Given the description of an element on the screen output the (x, y) to click on. 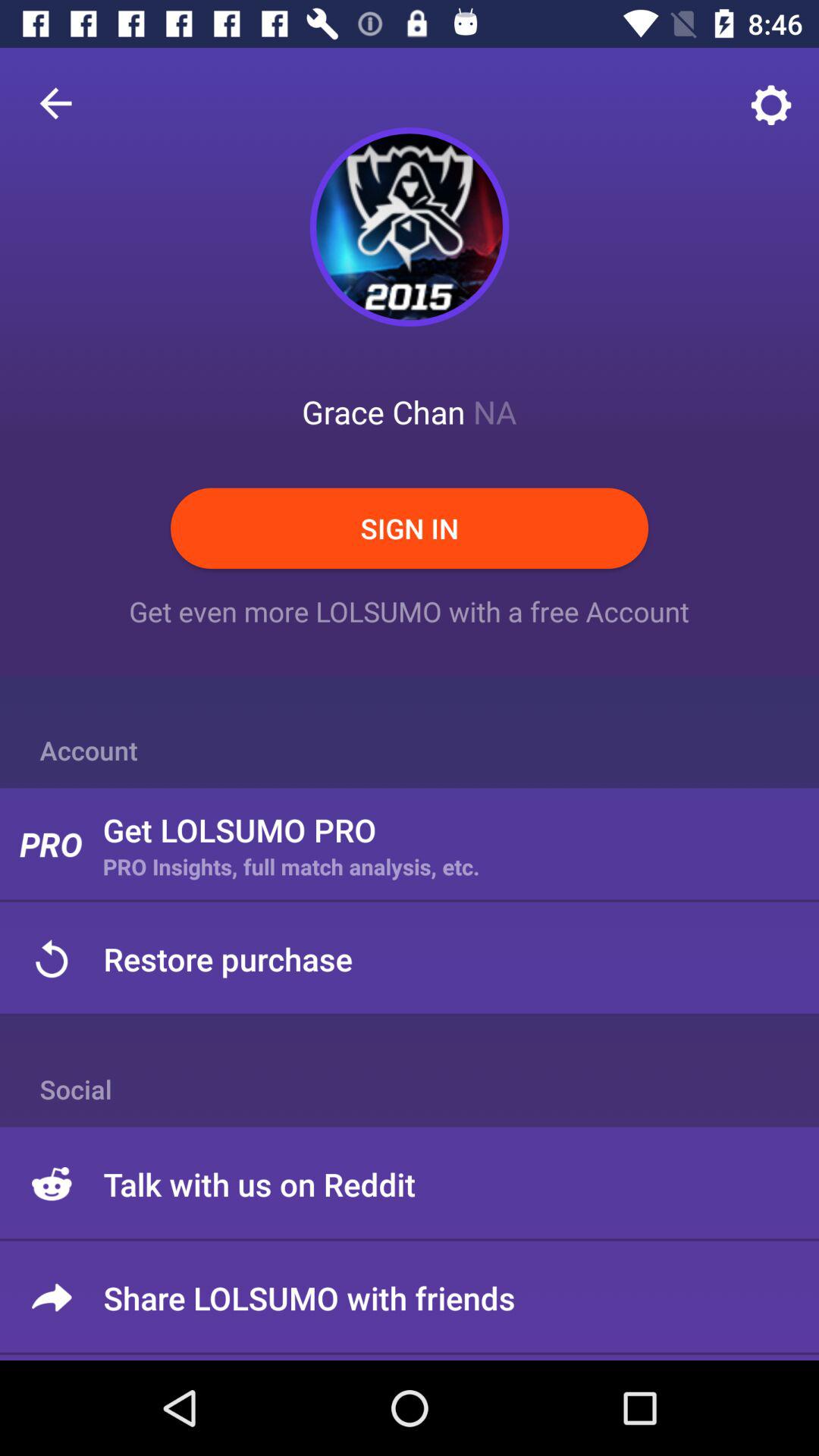
turn off sign in item (409, 527)
